Given the description of an element on the screen output the (x, y) to click on. 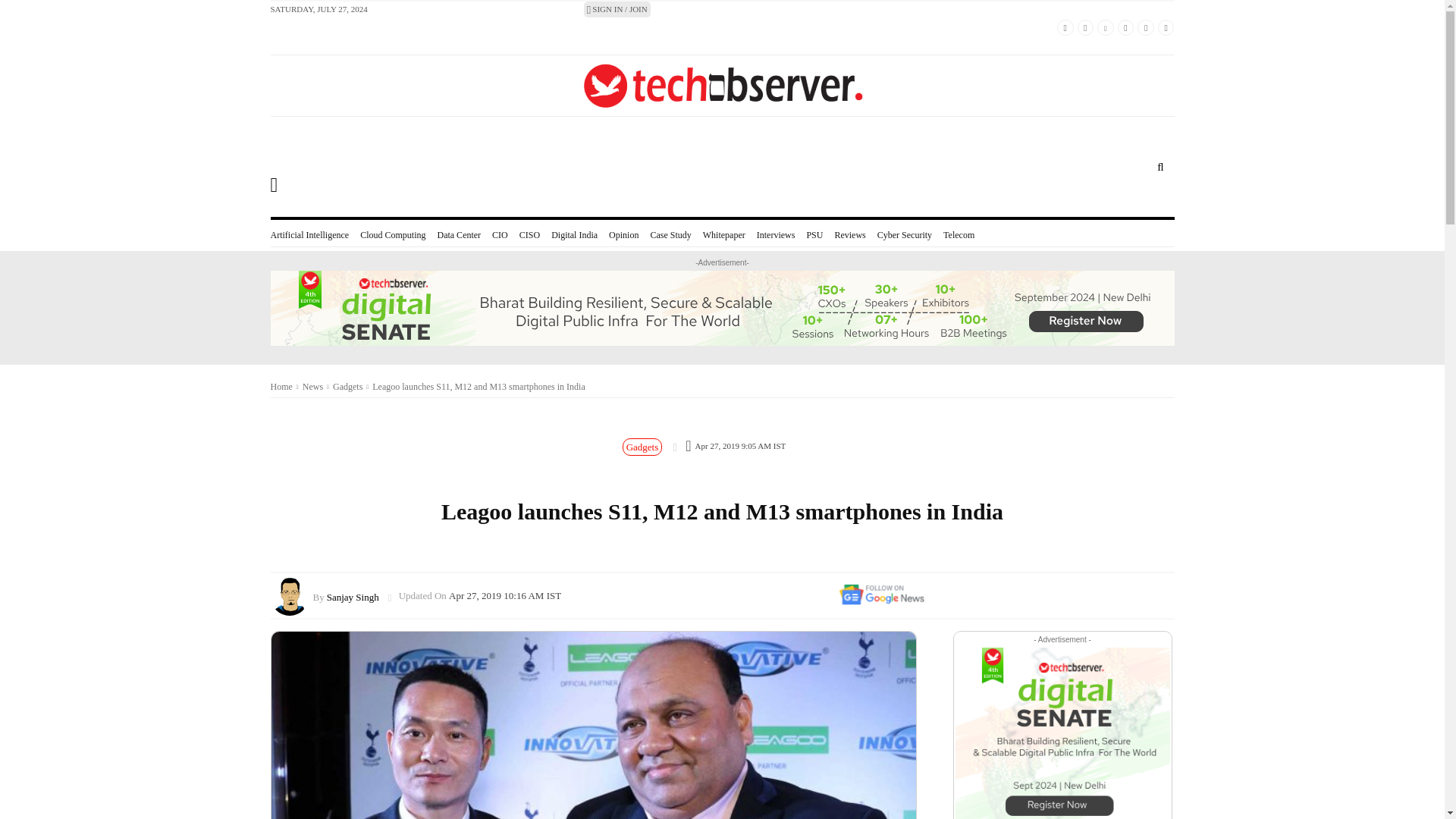
Twitter (1085, 27)
Linkedin (1105, 27)
Instagram (1145, 27)
Facebook (1065, 27)
YouTube (1126, 27)
